Given the description of an element on the screen output the (x, y) to click on. 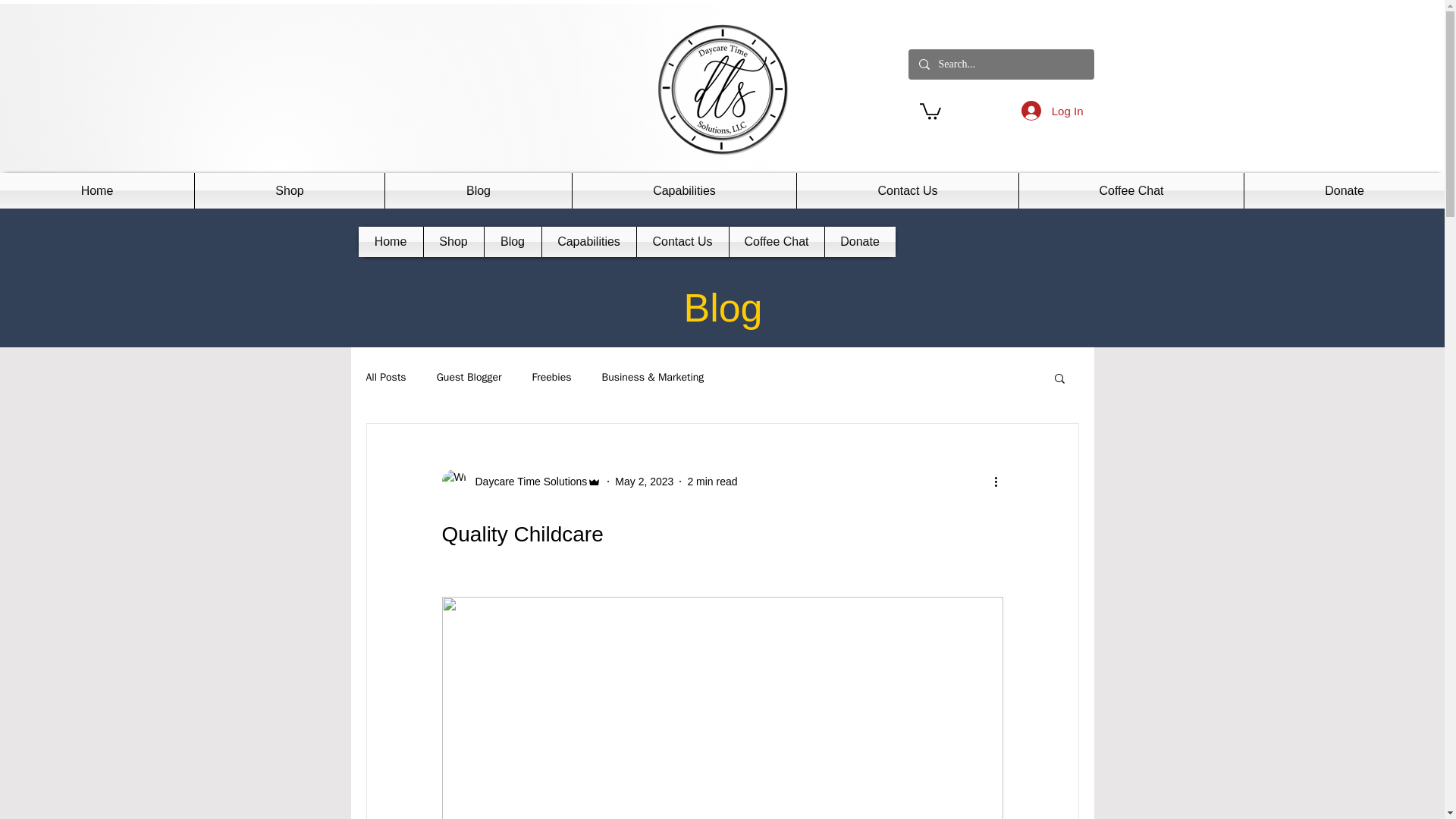
Home (96, 190)
2 min read (711, 480)
Blog (478, 190)
Log In (1052, 110)
Coffee Chat (1131, 190)
May 2, 2023 (643, 480)
Daycare Time Solutions (525, 480)
Home (390, 241)
Contact Us (906, 190)
Capabilities (684, 190)
